Given the description of an element on the screen output the (x, y) to click on. 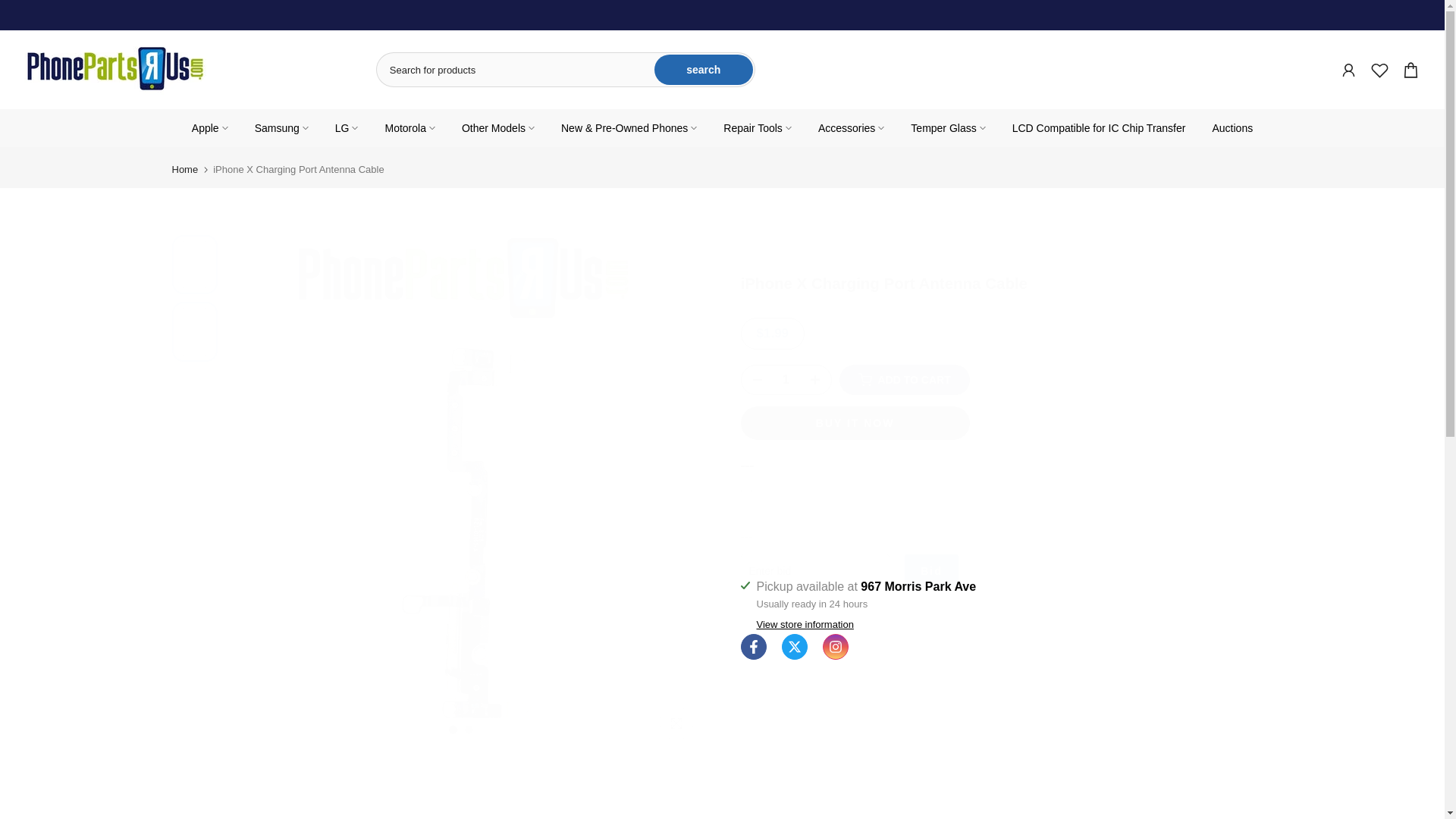
Bid (931, 571)
View store information (805, 624)
Follow on Twitter (793, 646)
Skip to content (10, 7)
Follow on Facebook (752, 646)
Auctions (1232, 127)
Motorola (409, 127)
Samsung (281, 127)
Accessories (850, 127)
Home (184, 169)
